Given the description of an element on the screen output the (x, y) to click on. 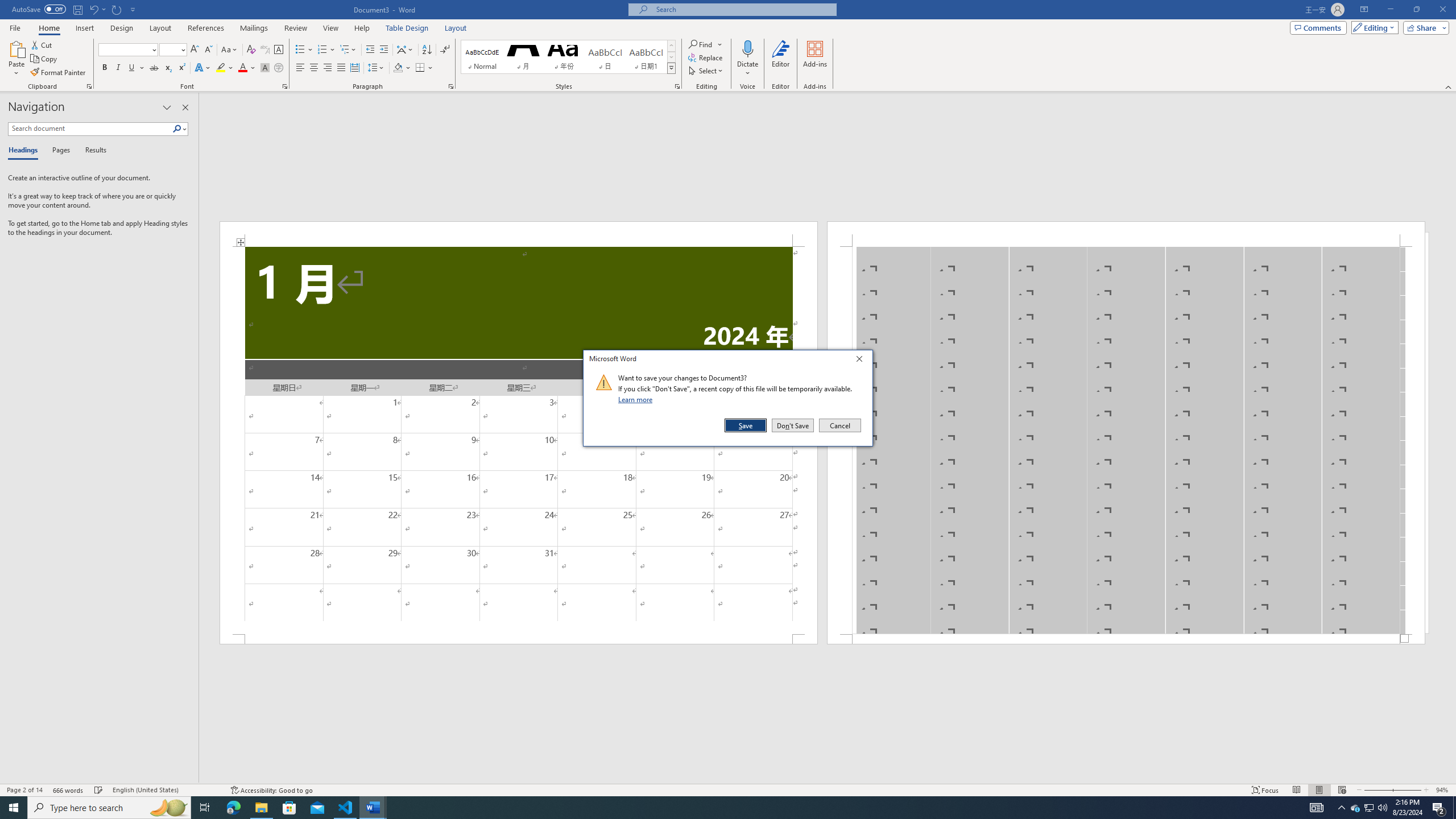
File Explorer - 1 running window (261, 807)
Header -Section 1- (1126, 233)
Search document (89, 128)
Shading RGB(0, 0, 0) (397, 67)
Notification Chevron (1341, 807)
Font Color RGB(255, 0, 0) (241, 67)
Word - 2 running windows (373, 807)
Task View (204, 807)
Word Count 666 words (68, 790)
Align Left (300, 67)
